Given the description of an element on the screen output the (x, y) to click on. 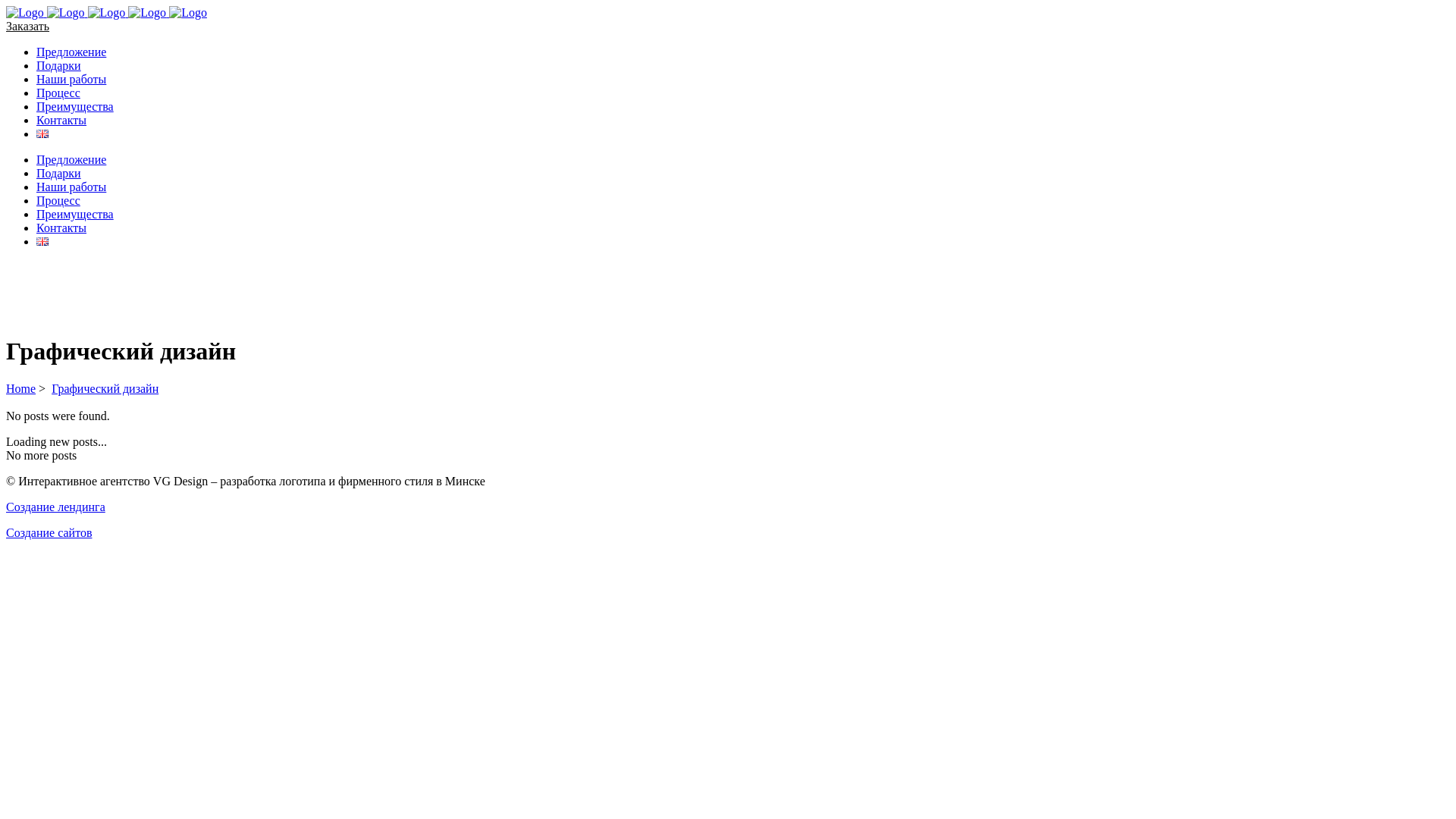
Home Element type: text (20, 388)
